Given the description of an element on the screen output the (x, y) to click on. 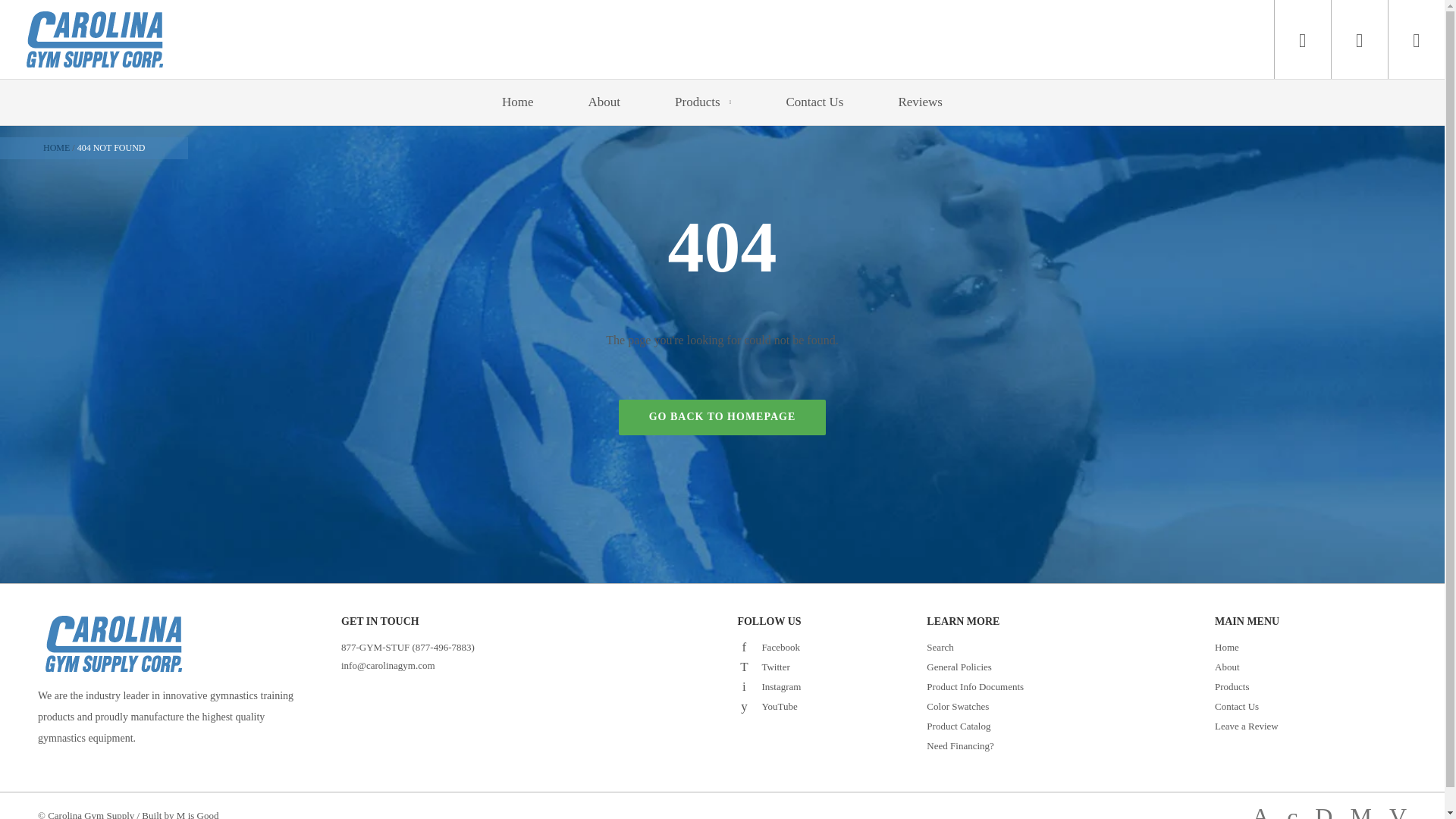
AMEX (1260, 809)
YouTube (743, 704)
MasterCard (1360, 809)
Visa (1397, 809)
Twitter (743, 665)
Facebook (743, 645)
Instagram (743, 685)
Discover (1323, 809)
